Given the description of an element on the screen output the (x, y) to click on. 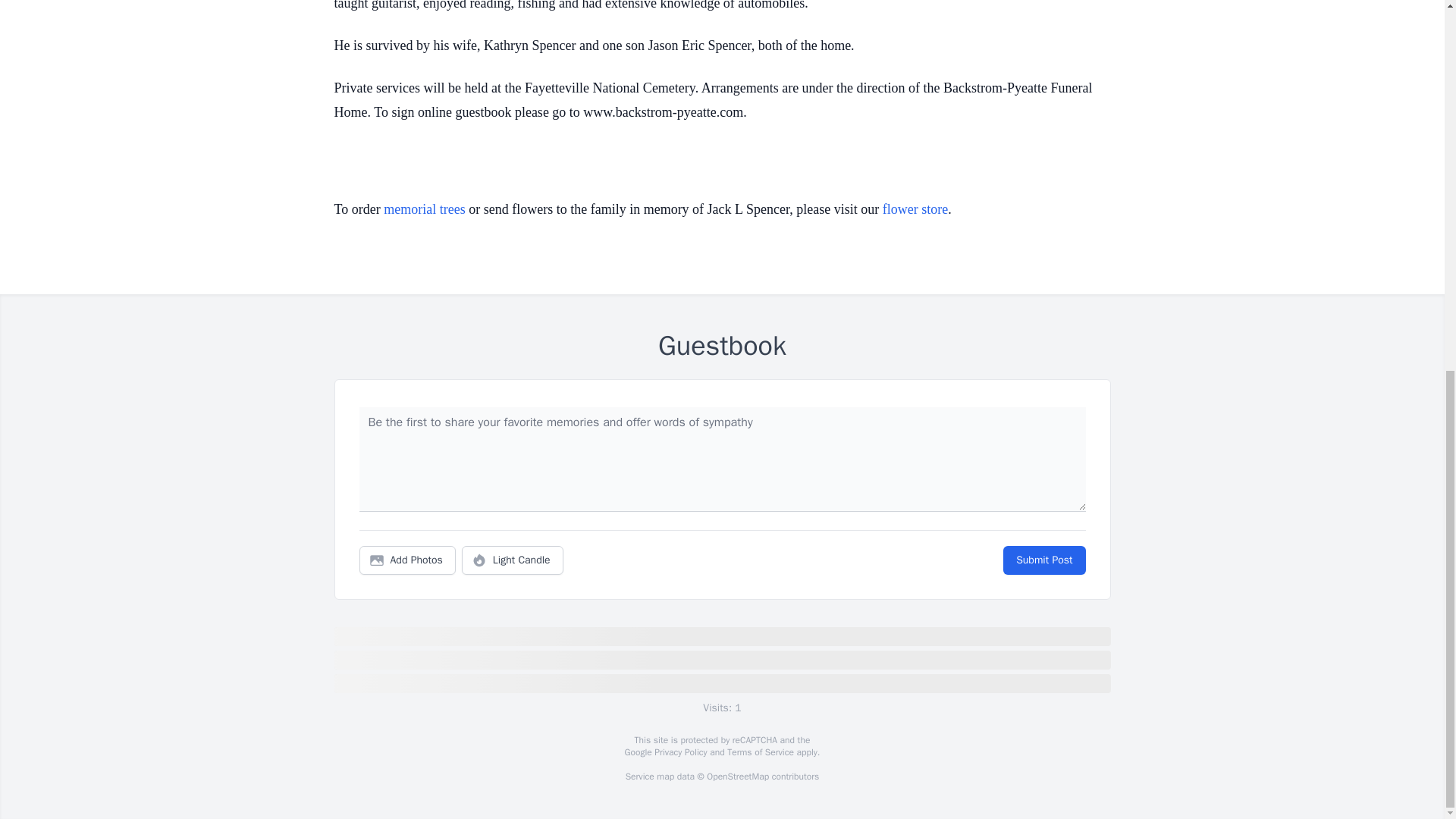
Light Candle (512, 560)
Add Photos (407, 560)
memorial trees (424, 209)
Submit Post (1043, 560)
Privacy Policy (679, 752)
Terms of Service (759, 752)
flower store (914, 209)
OpenStreetMap (737, 776)
